Given the description of an element on the screen output the (x, y) to click on. 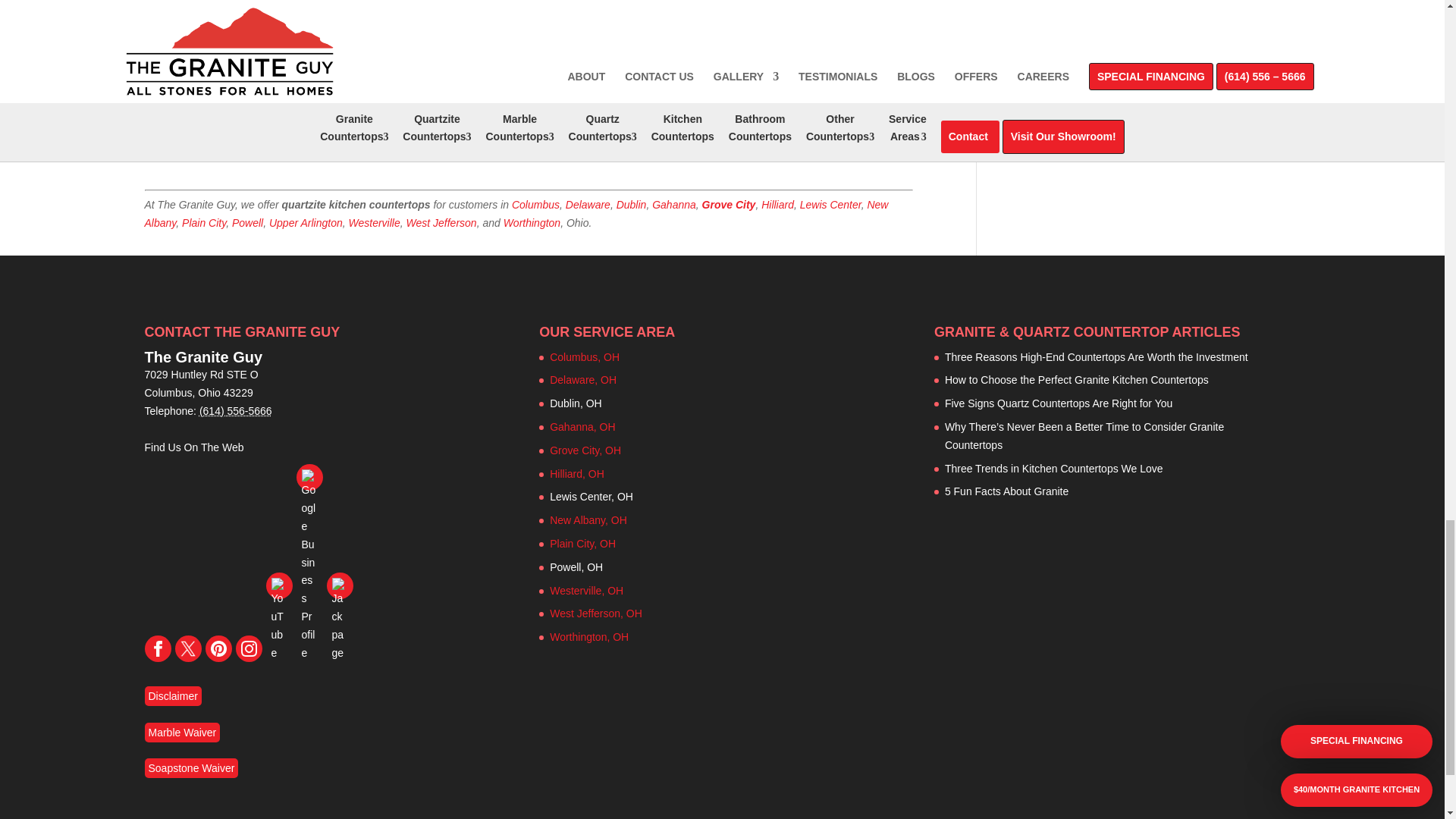
YouTube (278, 585)
Facebook (157, 648)
Twitter (188, 648)
Pinterest (218, 648)
Jackpage (339, 585)
Google Business Profile (308, 477)
Facebook (157, 648)
Pinterest (219, 648)
Instagram (249, 648)
Instagram (248, 648)
